Given the description of an element on the screen output the (x, y) to click on. 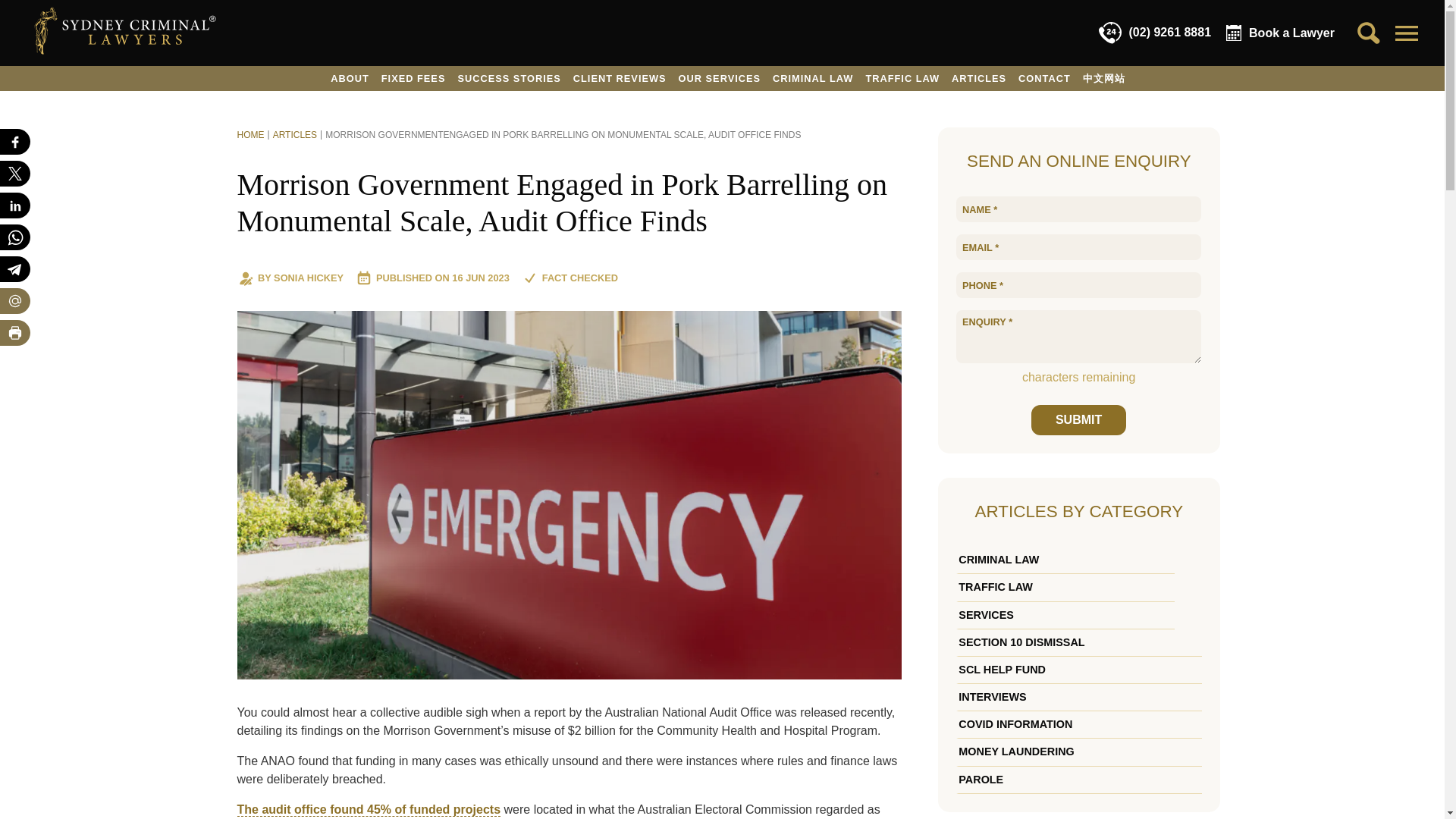
Share by email (15, 300)
Print Page (15, 332)
Published (479, 277)
Share on X (15, 173)
Share on Telegram (15, 268)
Share on WhatsApp (15, 237)
Share on Facebook (15, 141)
Articles by Sonia Hickey (308, 277)
ABOUT (349, 78)
Book a Lawyer (1280, 33)
